Given the description of an element on the screen output the (x, y) to click on. 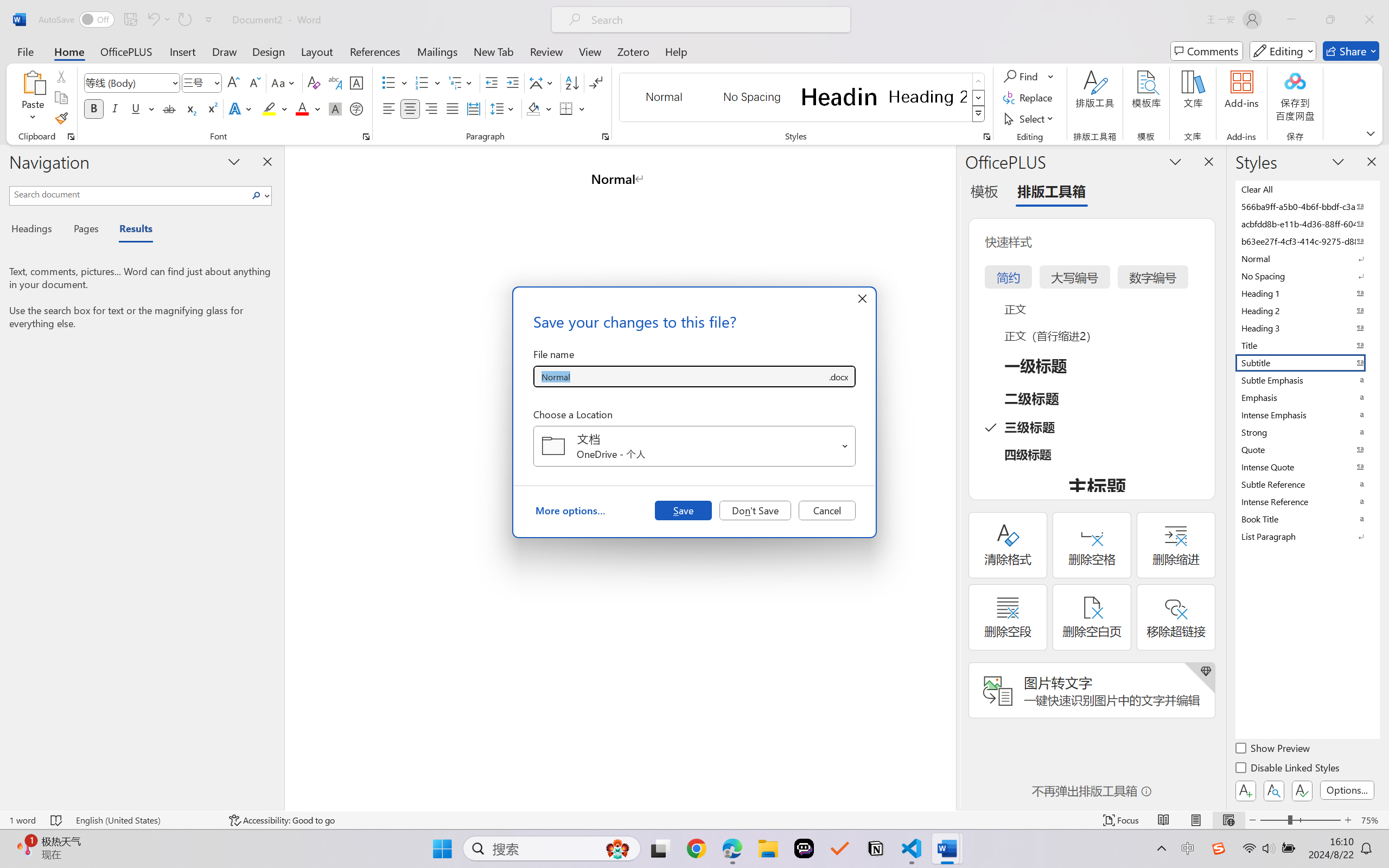
Headings (35, 229)
Notion (875, 848)
Home (69, 51)
Help (675, 51)
View (589, 51)
Shading RGB(0, 0, 0) (533, 108)
Heading 3 (1306, 327)
Poe (804, 848)
Ribbon Display Options (1370, 132)
